Given the description of an element on the screen output the (x, y) to click on. 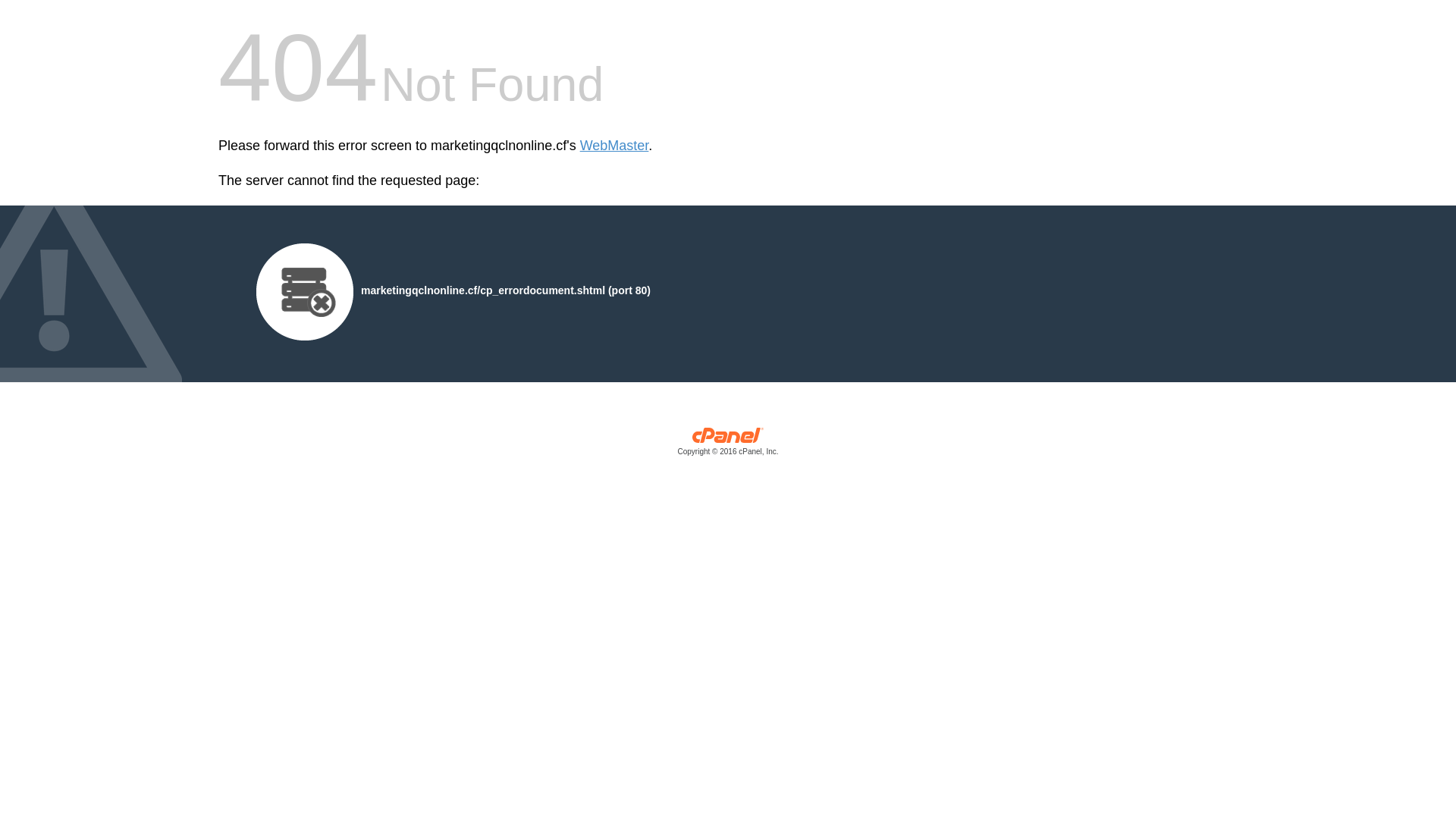
WebMaster Element type: text (614, 145)
